Given the description of an element on the screen output the (x, y) to click on. 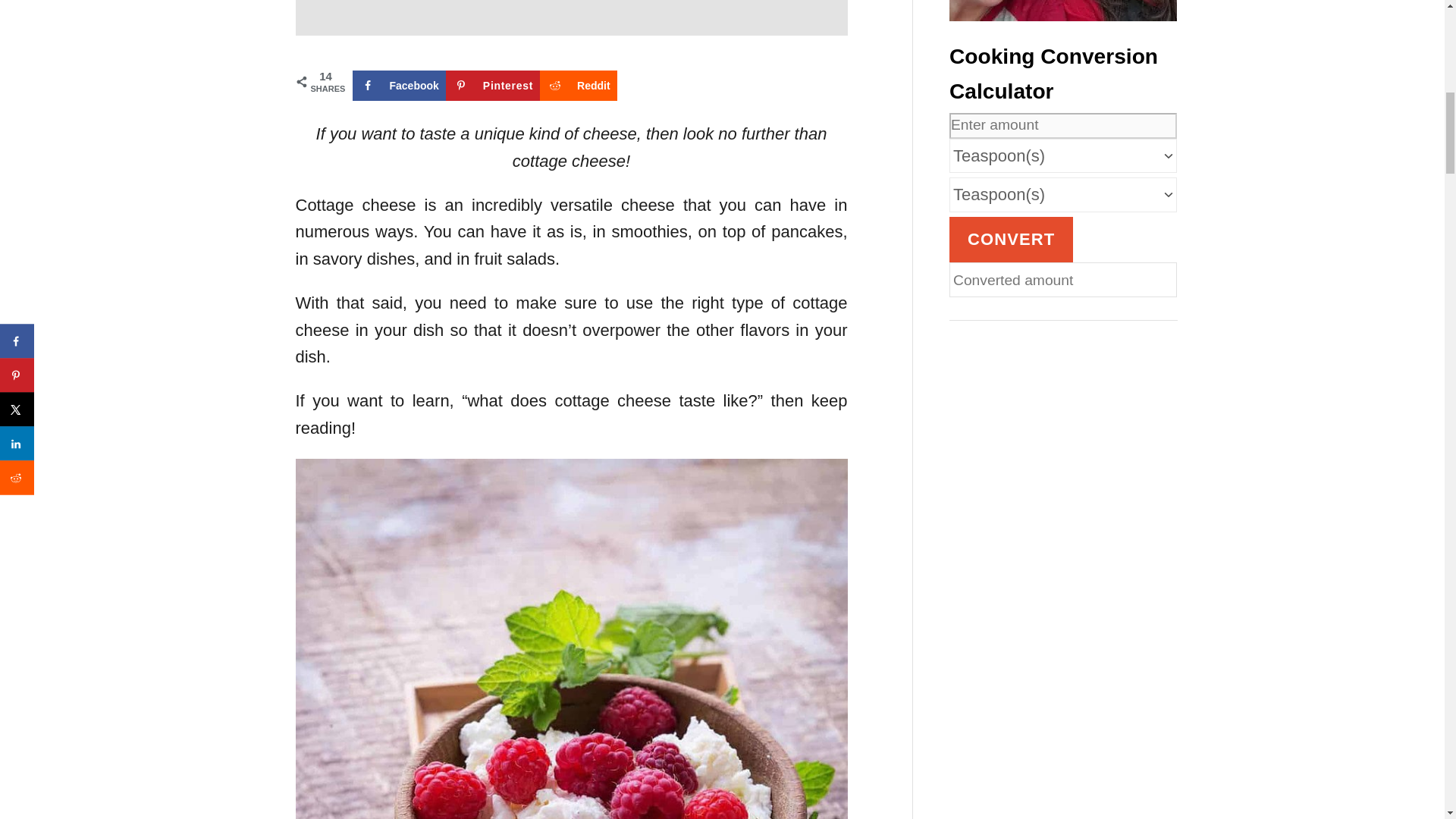
Share on Reddit (578, 85)
Share on Facebook (398, 85)
Save to Pinterest (492, 85)
